Given the description of an element on the screen output the (x, y) to click on. 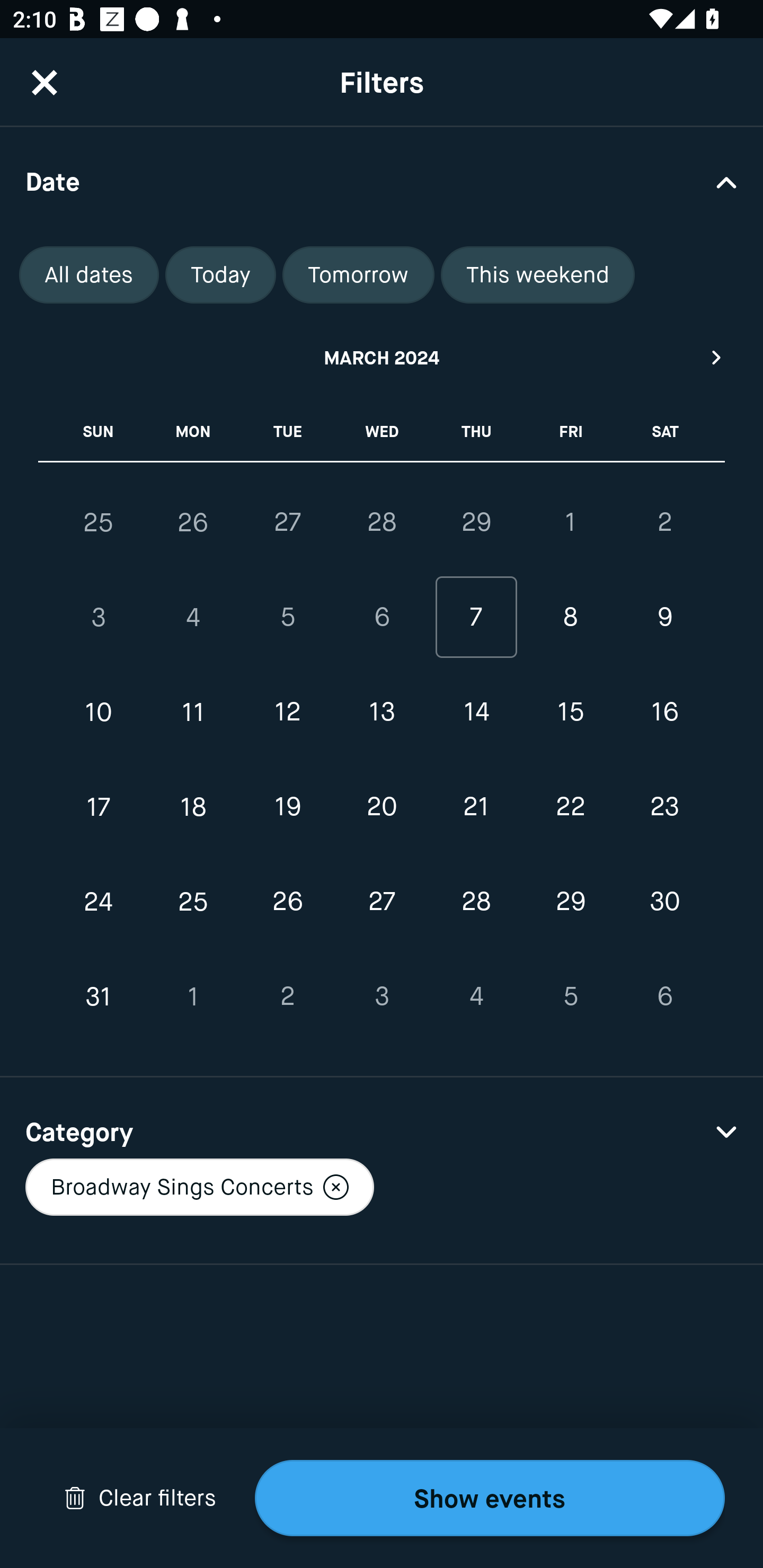
CloseButton (44, 82)
Date Drop Down Arrow (381, 181)
All dates (88, 274)
Today (220, 274)
Tomorrow (358, 274)
This weekend (537, 274)
Next (717, 357)
25 (98, 522)
26 (192, 522)
27 (287, 522)
28 (381, 522)
29 (475, 522)
1 (570, 522)
2 (664, 522)
3 (98, 617)
4 (192, 617)
5 (287, 617)
6 (381, 617)
7 (475, 617)
8 (570, 617)
9 (664, 617)
10 (98, 711)
11 (192, 711)
12 (287, 711)
13 (381, 711)
14 (475, 711)
15 (570, 711)
16 (664, 711)
17 (98, 806)
18 (192, 806)
19 (287, 806)
20 (381, 806)
21 (475, 806)
22 (570, 806)
23 (664, 806)
24 (98, 901)
25 (192, 901)
26 (287, 901)
27 (381, 901)
28 (475, 901)
29 (570, 901)
30 (664, 901)
31 (98, 996)
1 (192, 996)
2 (287, 996)
3 (381, 996)
4 (475, 996)
5 (570, 996)
6 (664, 996)
Broadway Sings Concerts Localized description (199, 1186)
Drop Down Arrow Clear filters (139, 1497)
Show events (489, 1497)
